Given the description of an element on the screen output the (x, y) to click on. 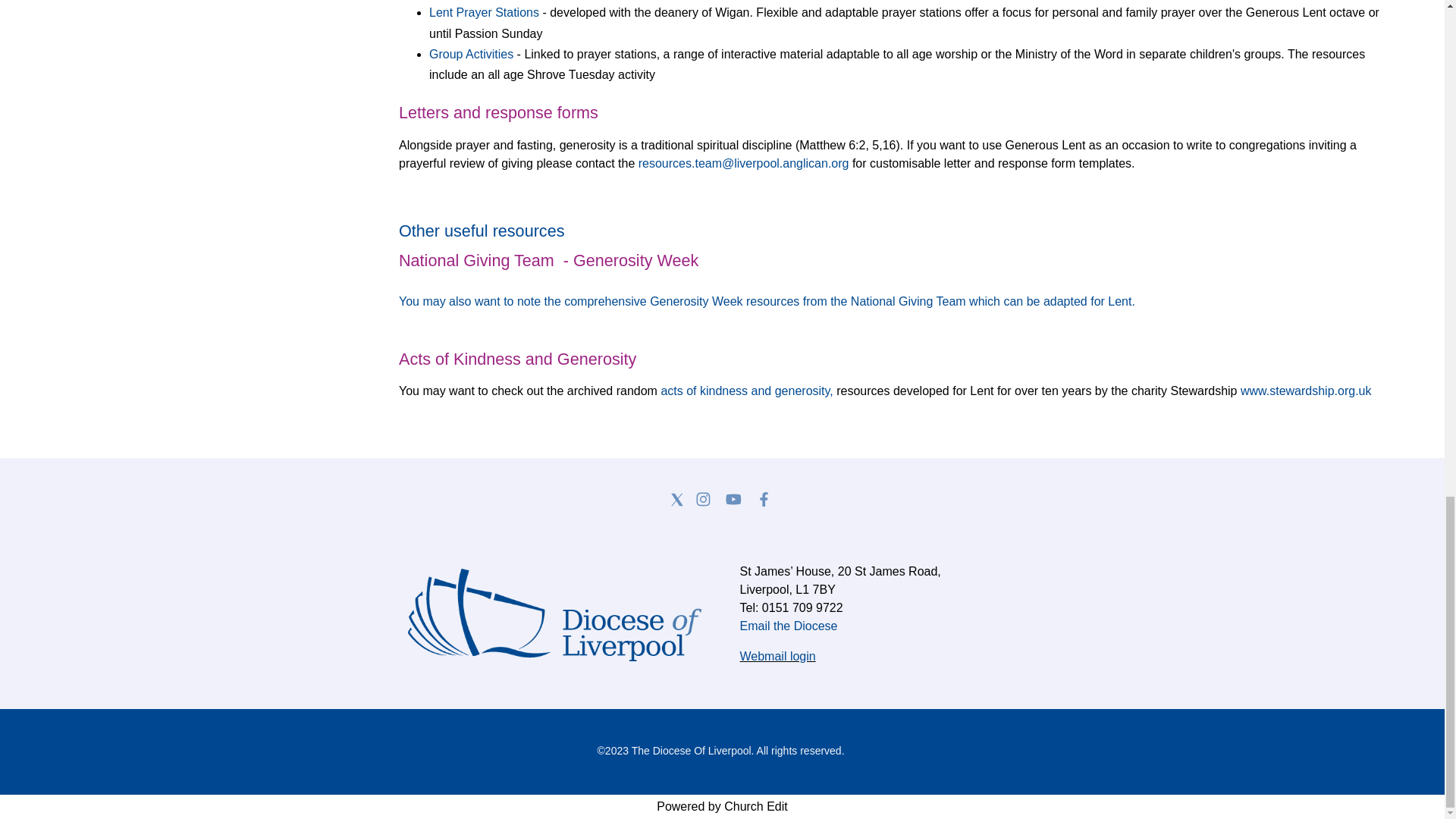
Logo (554, 615)
